Given the description of an element on the screen output the (x, y) to click on. 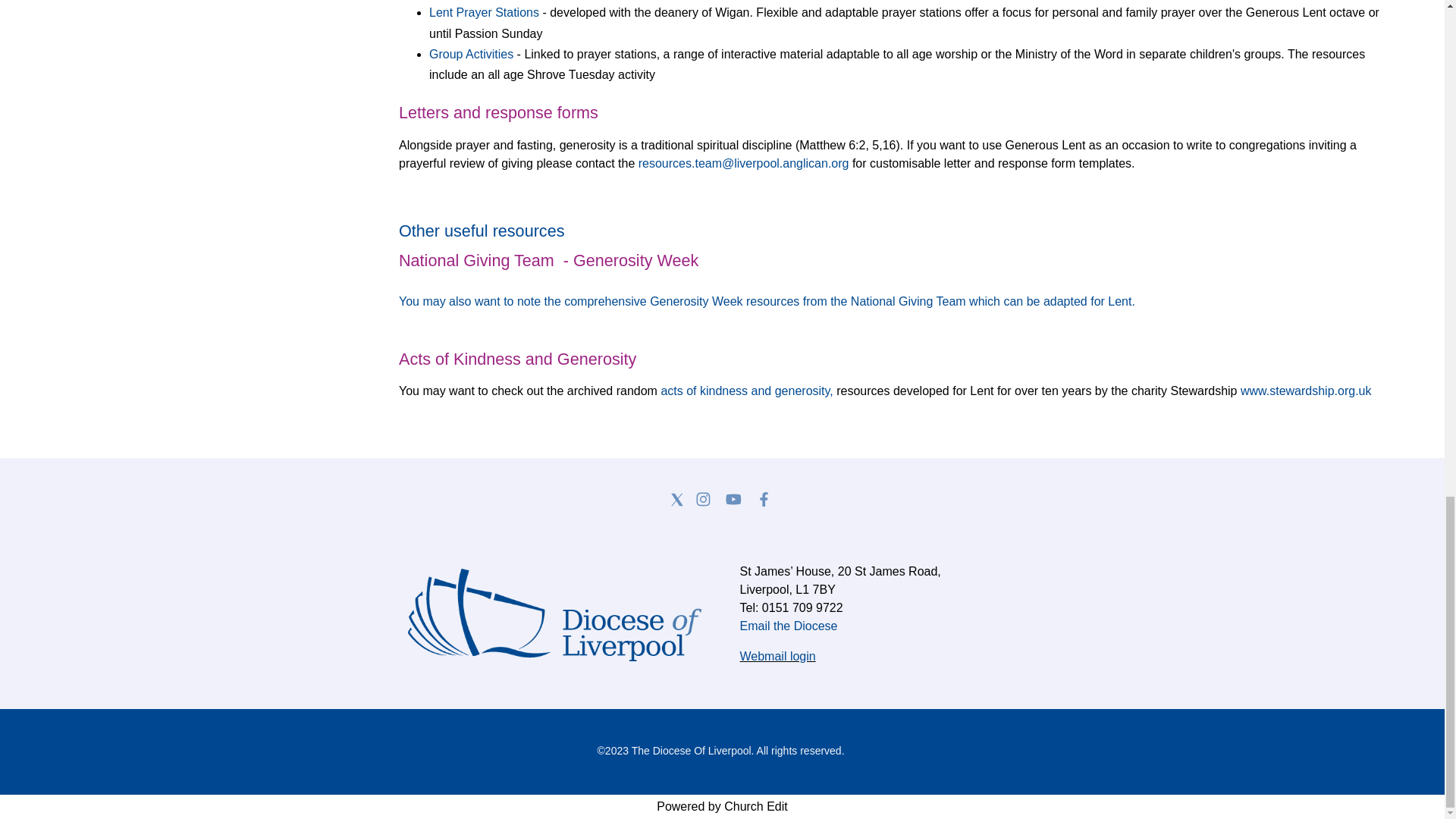
Logo (554, 615)
